Given the description of an element on the screen output the (x, y) to click on. 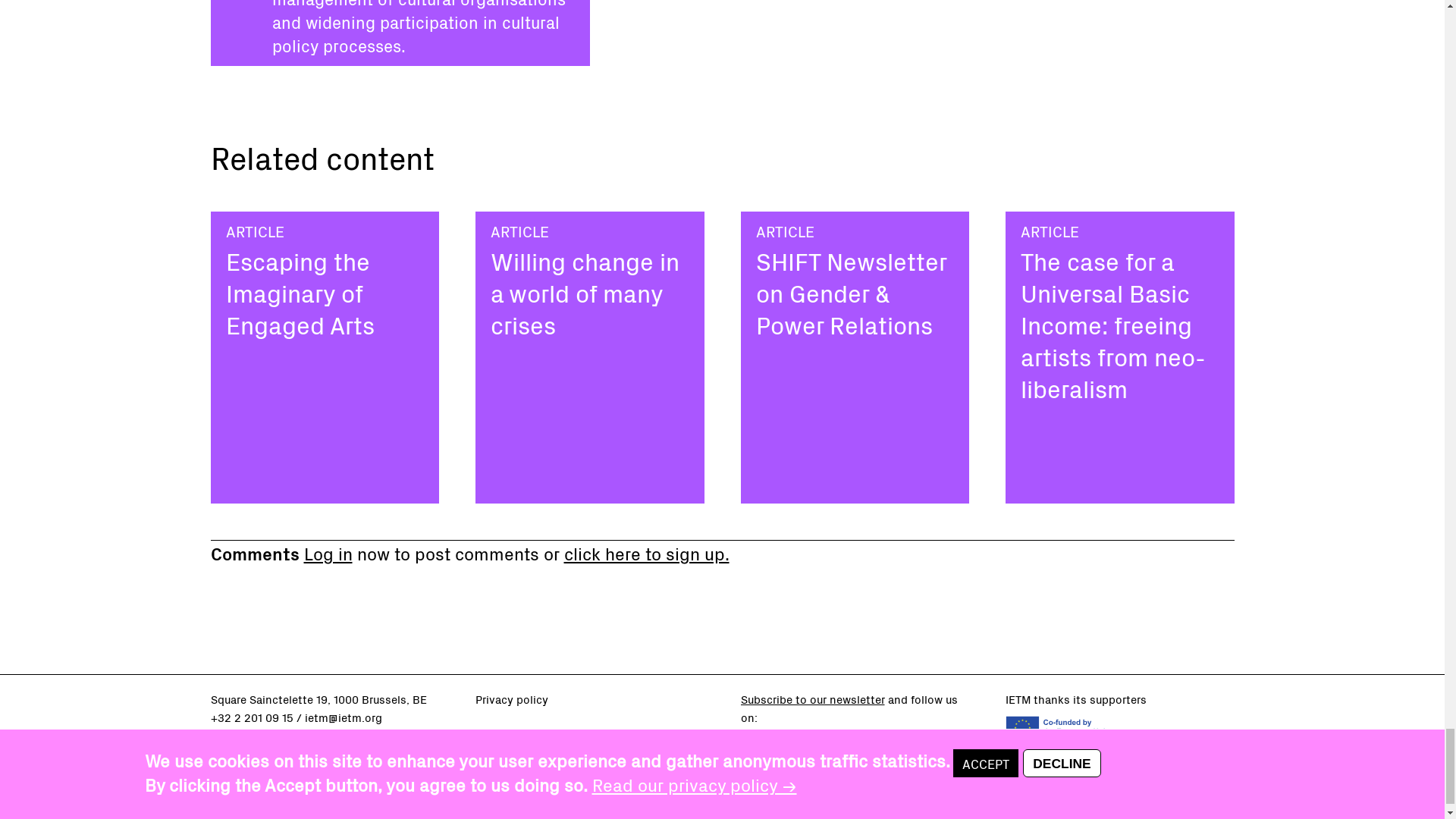
Log in (327, 552)
Privacy Policy agreement (512, 698)
Instagram (868, 748)
Willing change in a world of many crises (584, 292)
click here to sign up. (646, 552)
Escaping the Imaginary of Engaged Arts (299, 292)
Flickr (838, 748)
Subscribe to our newsletter (811, 698)
Contact us (239, 735)
Privacy policy (512, 698)
Twitter (779, 748)
Intellectual Property (528, 735)
Intellectual property (528, 735)
Facebook (748, 748)
Formula (496, 790)
